Given the description of an element on the screen output the (x, y) to click on. 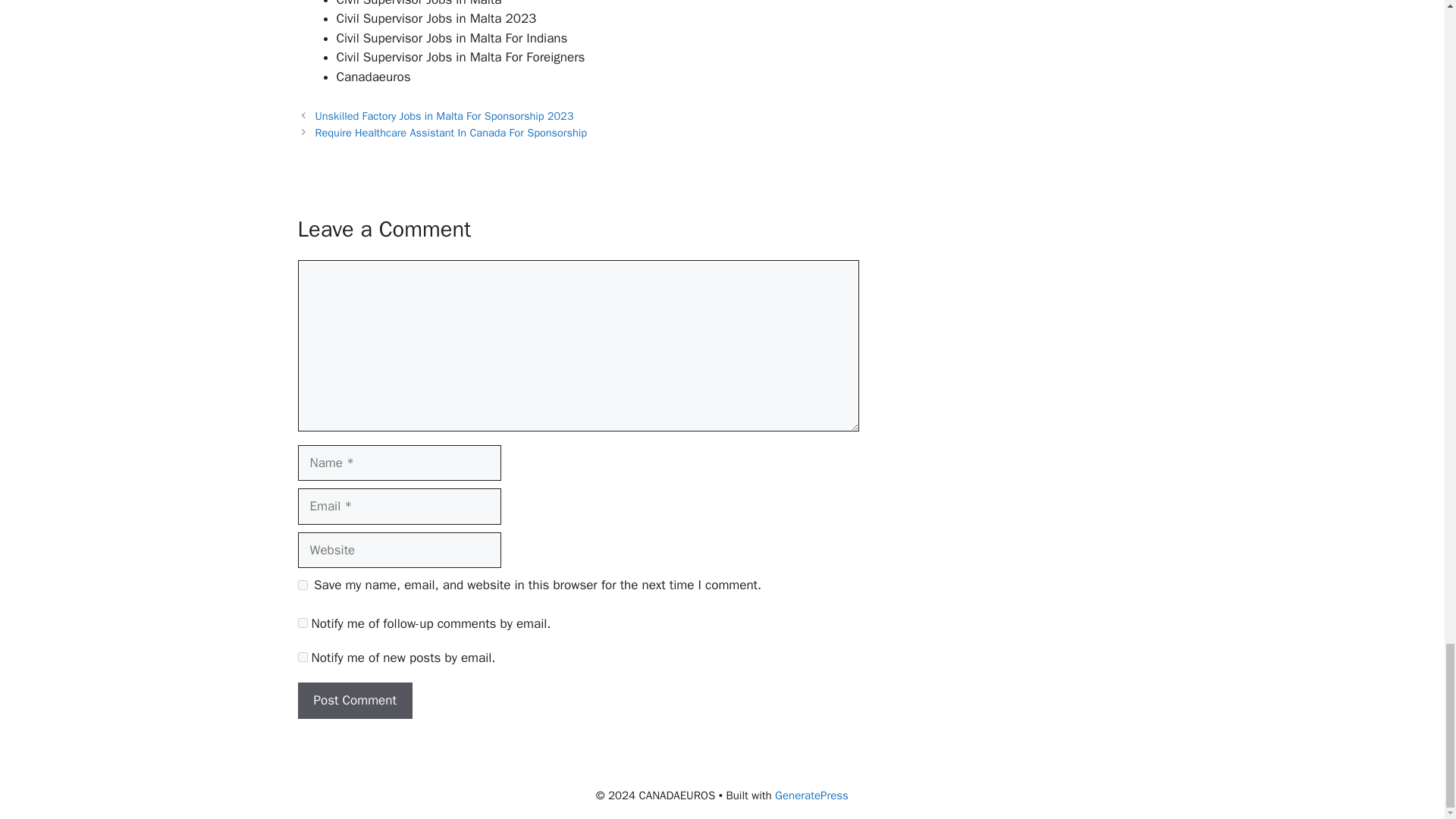
yes (302, 584)
subscribe (302, 623)
Unskilled Factory Jobs in Malta For Sponsorship 2023 (444, 115)
Post Comment (354, 700)
Require Healthcare Assistant In Canada For Sponsorship (450, 132)
Post Comment (354, 700)
subscribe (302, 656)
